Given the description of an element on the screen output the (x, y) to click on. 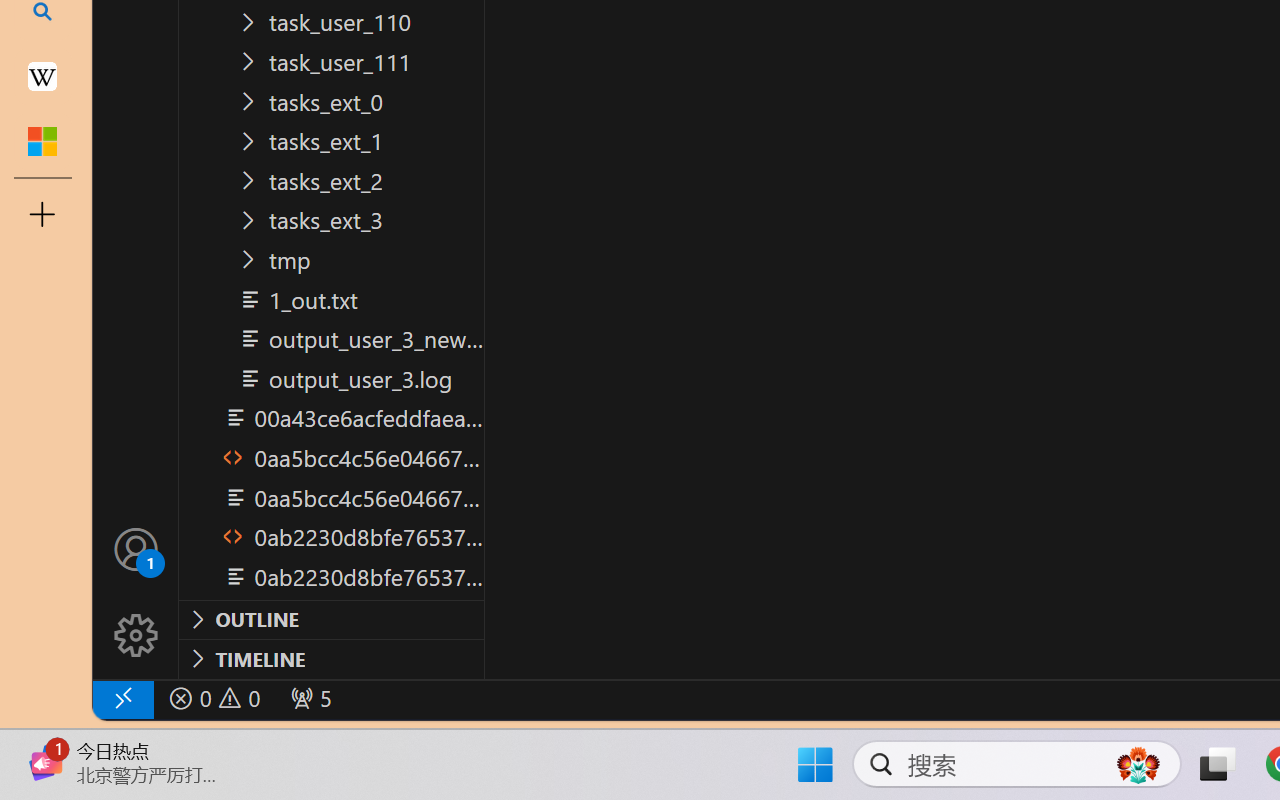
Outline Section (331, 619)
Timeline Section (331, 658)
No Problems (212, 698)
Accounts - Sign in requested (135, 548)
Earth - Wikipedia (42, 75)
Forwarded Ports: 36301, 47065, 38781, 45817, 50331 (308, 698)
remote (122, 698)
